Given the description of an element on the screen output the (x, y) to click on. 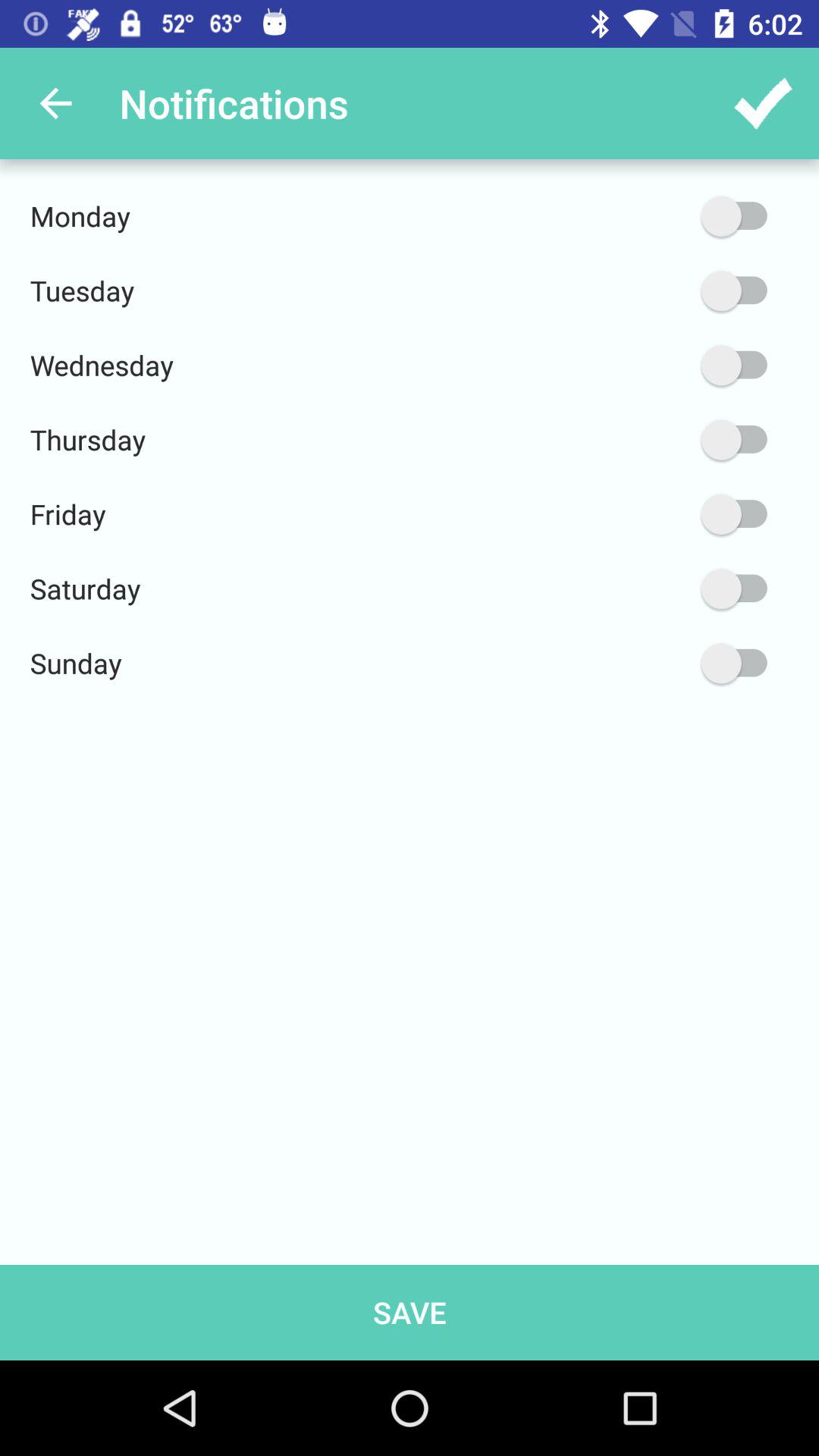
turn on/off tuesday notifications (661, 290)
